Given the description of an element on the screen output the (x, y) to click on. 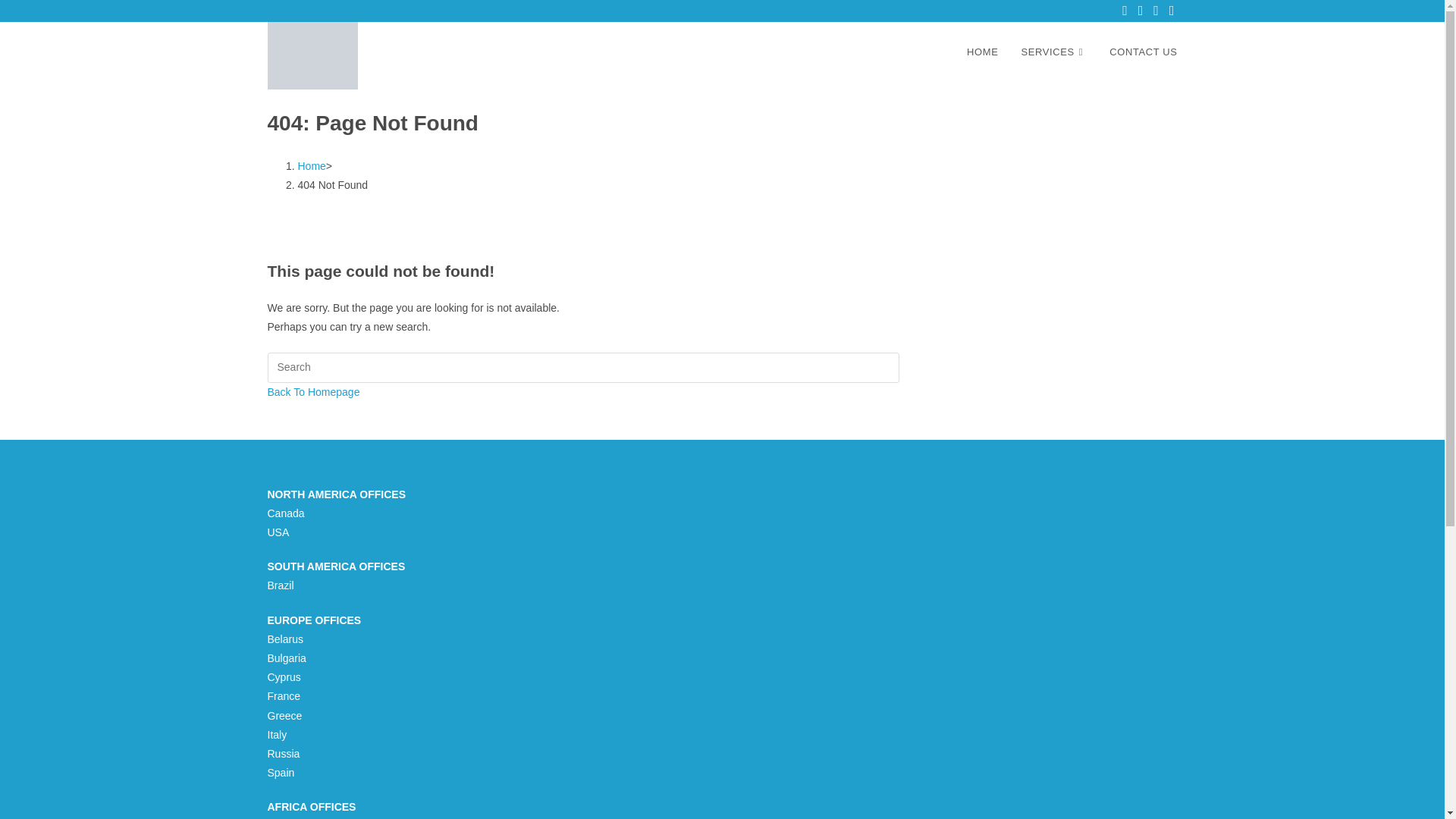
CONTACT US (1142, 51)
SERVICES (1054, 51)
HOME (982, 51)
Home (310, 165)
Back To Homepage (312, 391)
